Given the description of an element on the screen output the (x, y) to click on. 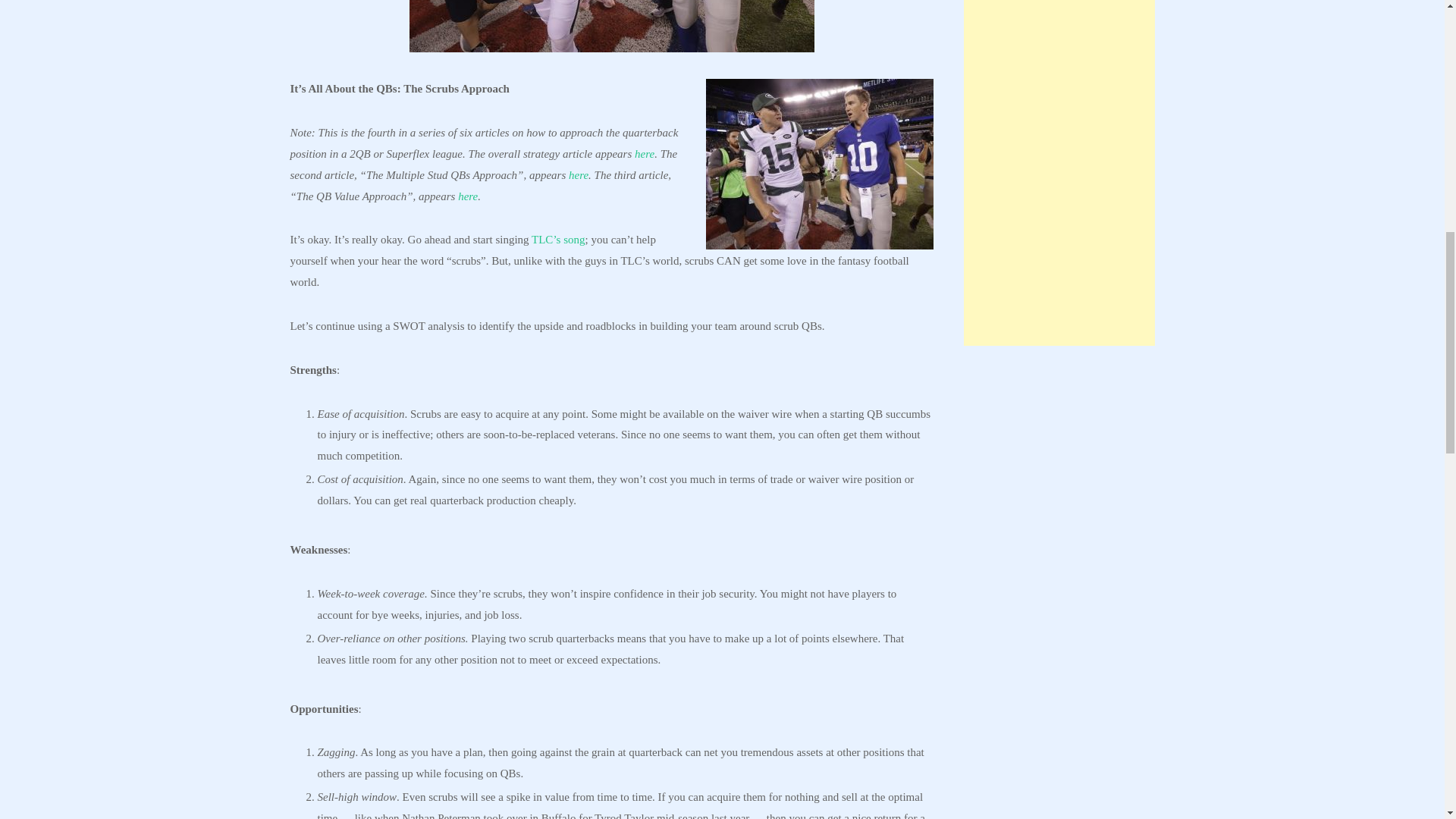
here (643, 153)
here (467, 196)
here (578, 174)
